Given the description of an element on the screen output the (x, y) to click on. 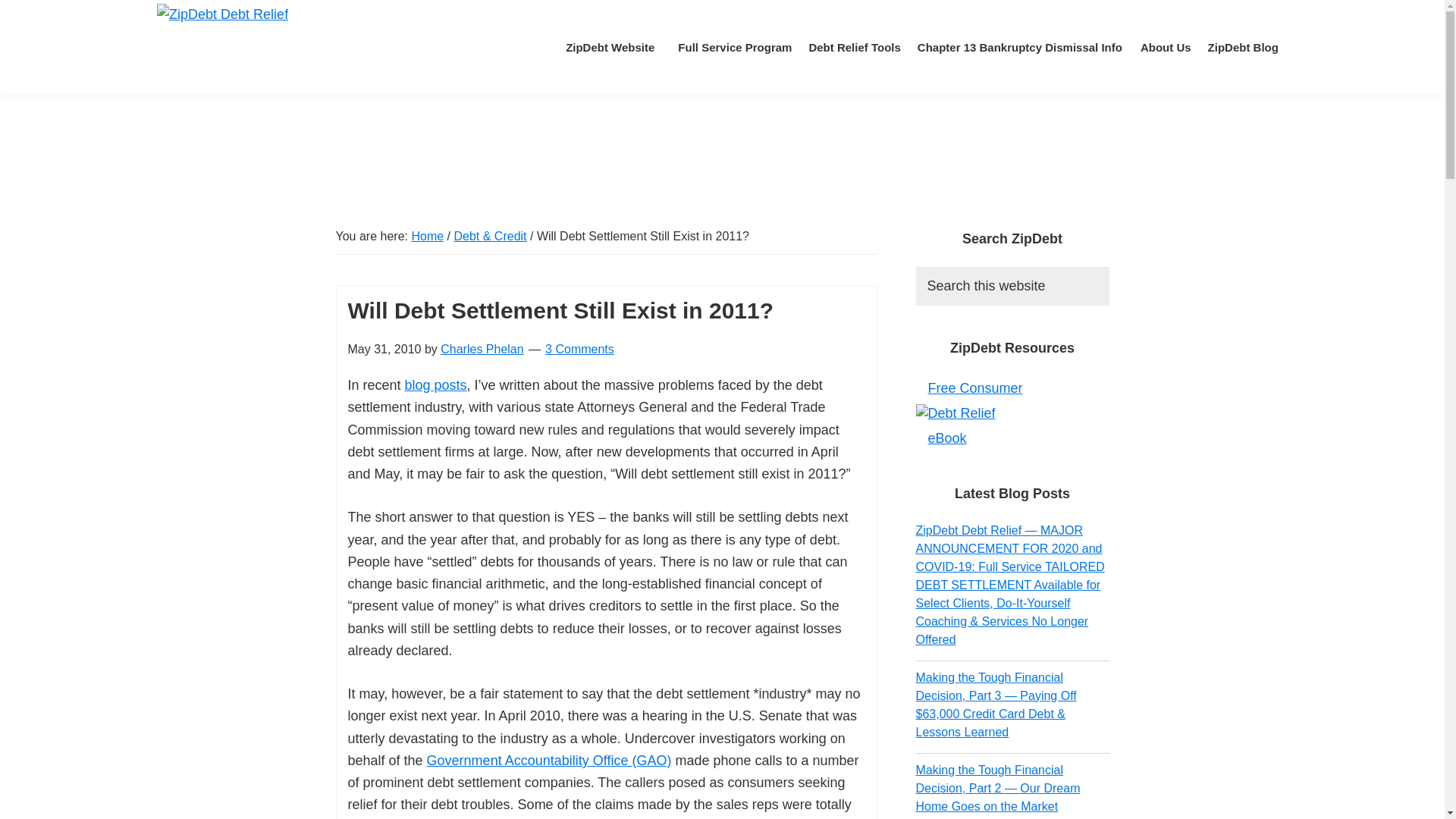
3 Comments (579, 349)
Full Service Program (731, 47)
blog posts (435, 385)
Debt Relief Tools (851, 47)
ZipDebt Website (609, 47)
Free and Low Cost Debt Relief Tools (851, 47)
Home (427, 236)
Charles Phelan (481, 349)
